Given the description of an element on the screen output the (x, y) to click on. 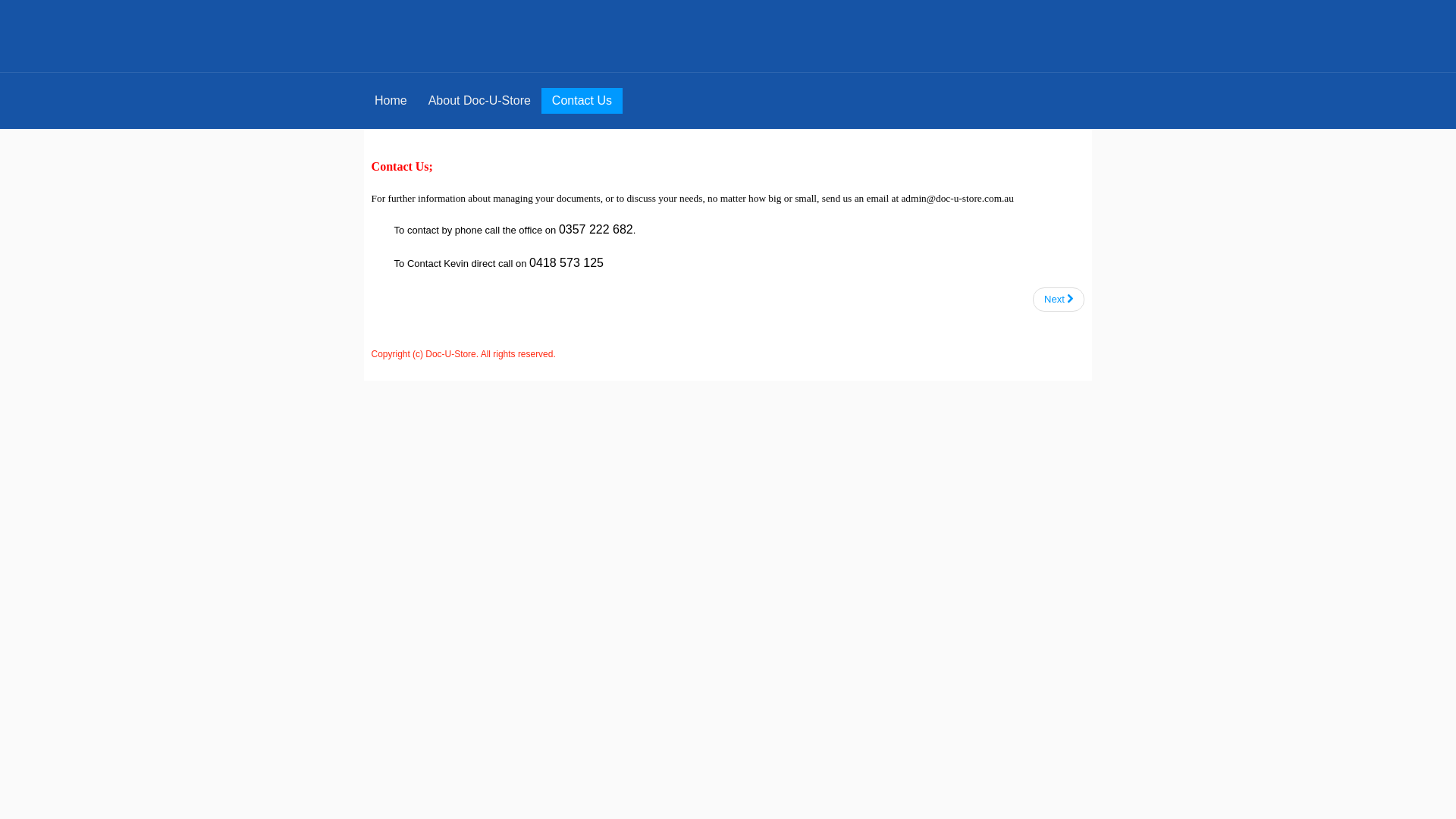
Next Element type: text (1058, 299)
Contact Us Element type: text (581, 100)
About Doc-U-Store Element type: text (479, 100)
Doc U Store Element type: text (728, 39)
admin@doc-u-store.com.au Element type: text (956, 197)
Home Element type: text (390, 100)
